Given the description of an element on the screen output the (x, y) to click on. 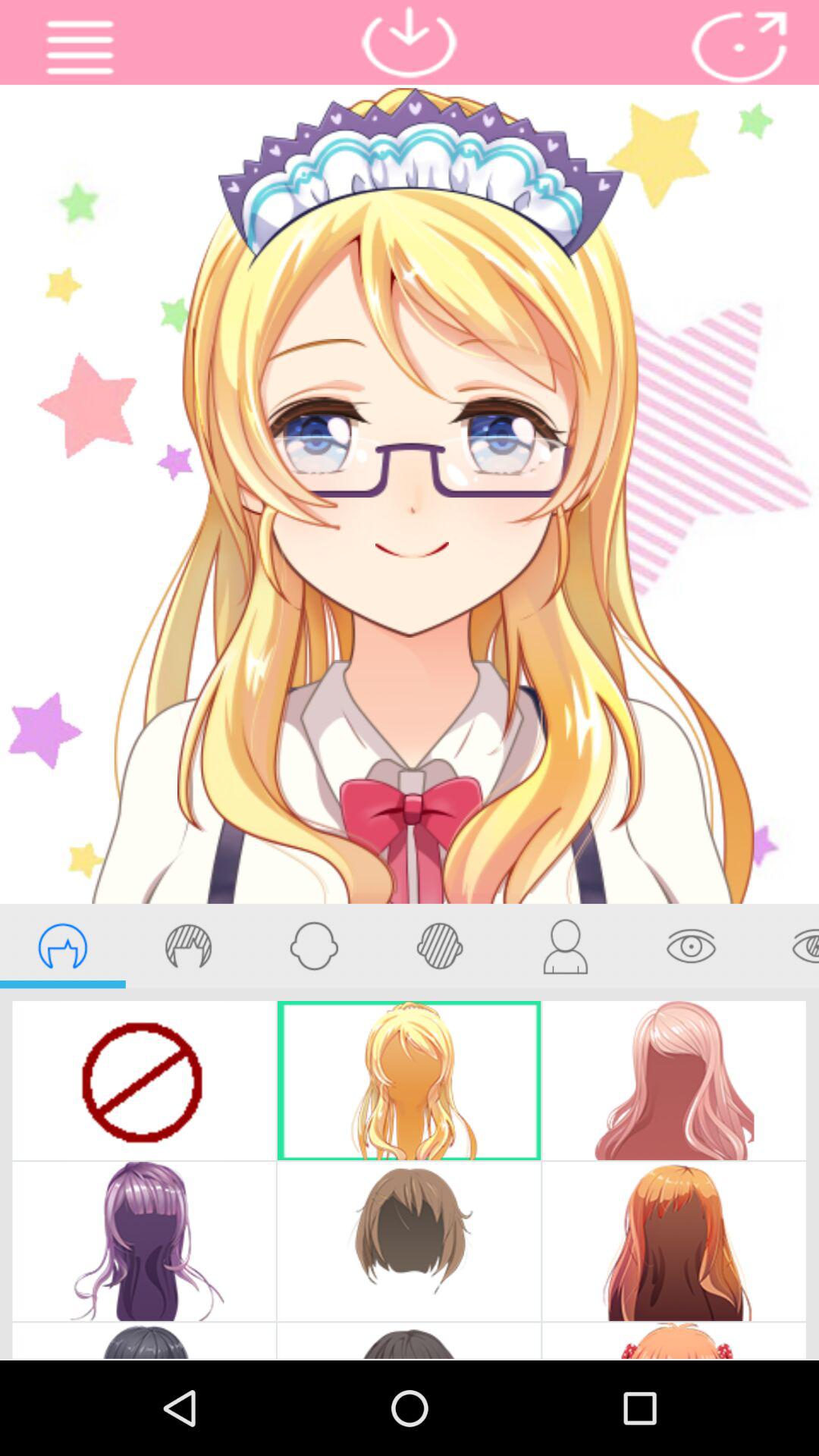
eye color (786, 945)
